Given the description of an element on the screen output the (x, y) to click on. 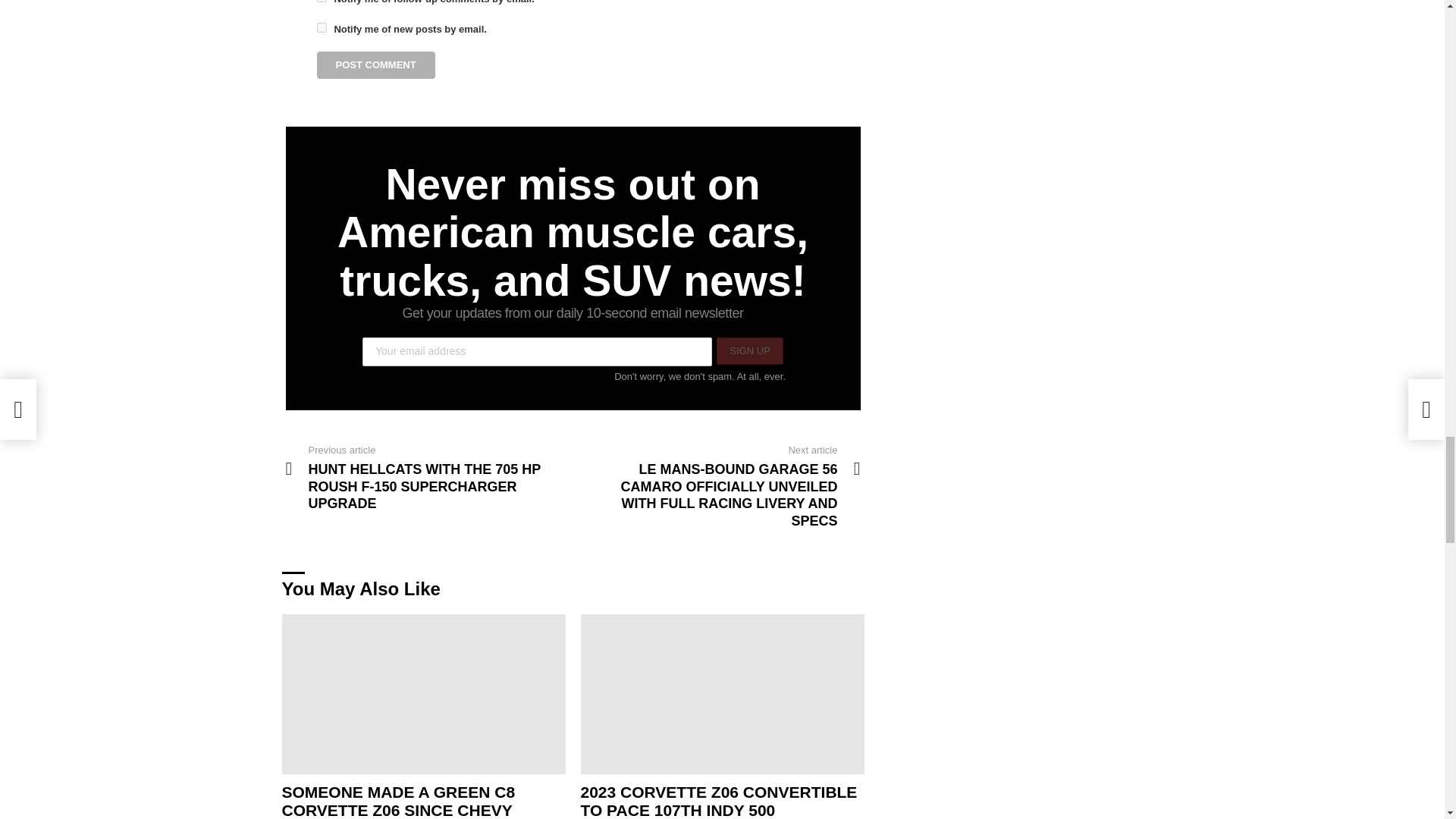
Post Comment (376, 64)
Sign up (749, 351)
subscribe (321, 27)
